Given the description of an element on the screen output the (x, y) to click on. 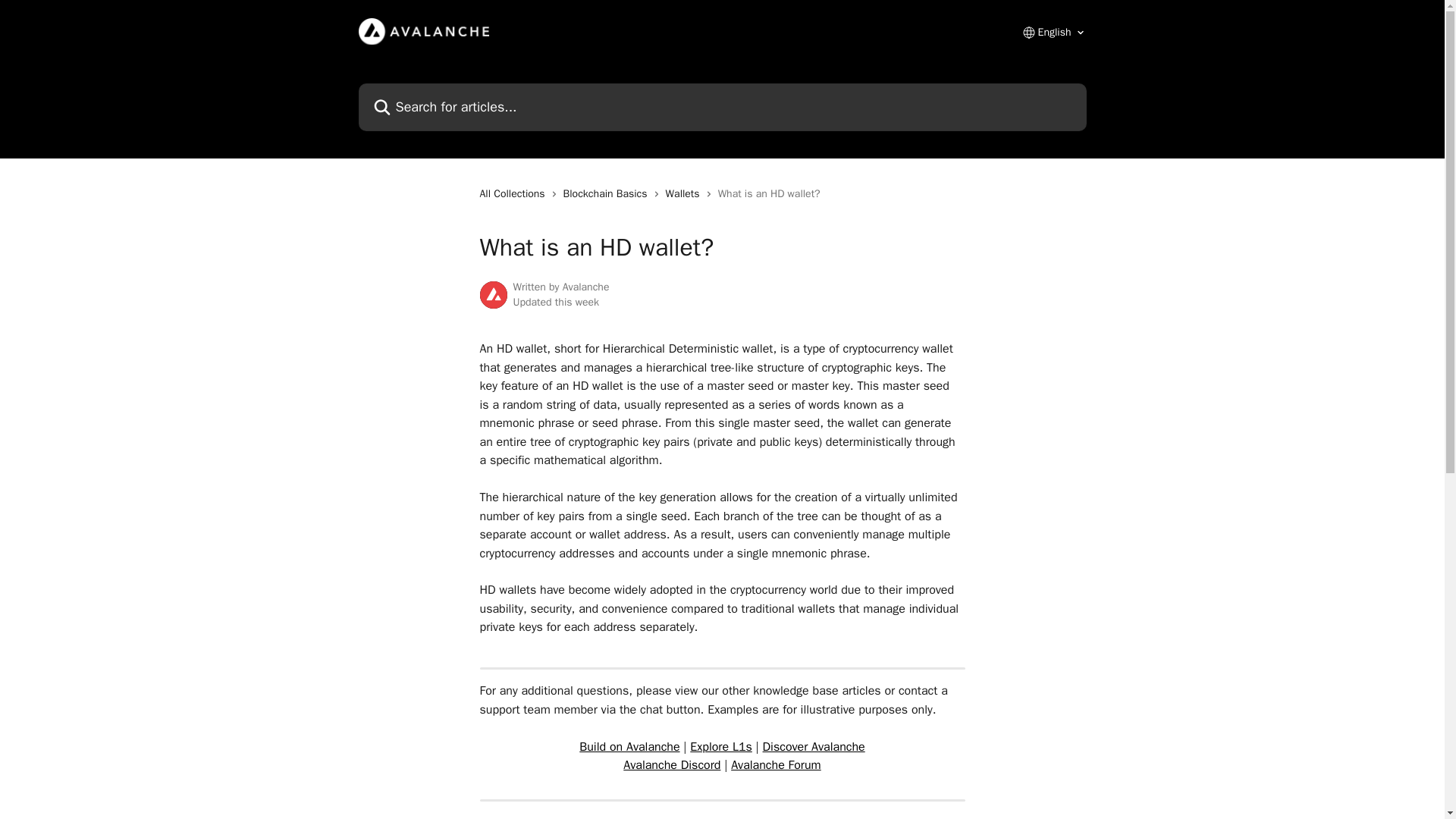
Discover Avalanche (813, 746)
Avalanche Discord (671, 765)
Wallets (685, 193)
All Collections (514, 193)
Explore L1s (721, 746)
Blockchain Basics (608, 193)
Avalanche Forum (775, 765)
Build on Avalanche (629, 746)
